Given the description of an element on the screen output the (x, y) to click on. 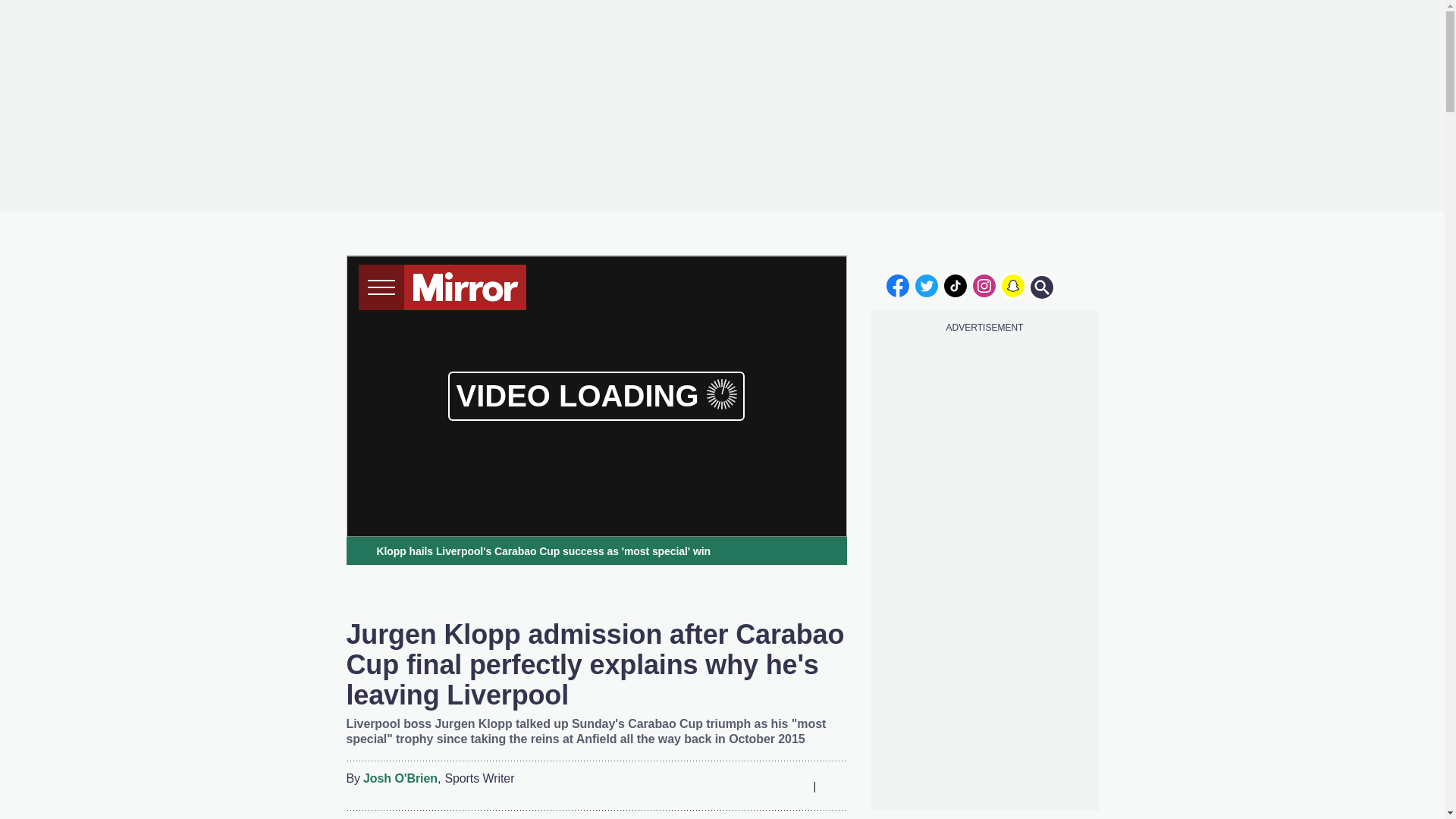
snapchat (1012, 285)
Josh O'Brien (400, 779)
facebook (897, 285)
Comments (834, 785)
twitter (926, 285)
Twitter (733, 785)
Facebook (702, 785)
instagram (984, 285)
Whatsapp (763, 785)
tiktok (955, 285)
